Given the description of an element on the screen output the (x, y) to click on. 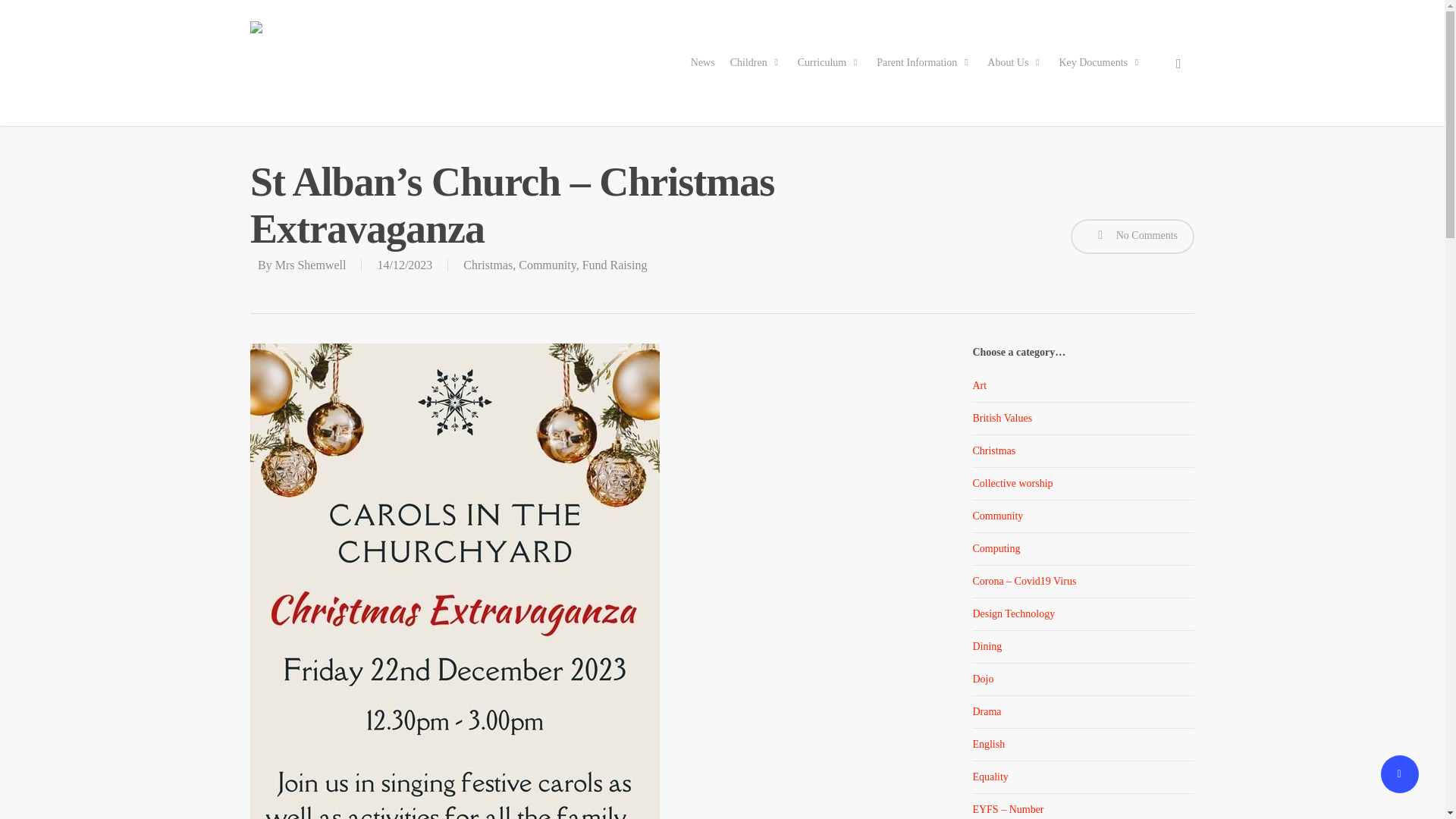
Parent Information (924, 62)
News (702, 62)
Children (756, 62)
About Us (1015, 62)
Curriculum (829, 62)
Posts by Mrs Shemwell (310, 264)
